Given the description of an element on the screen output the (x, y) to click on. 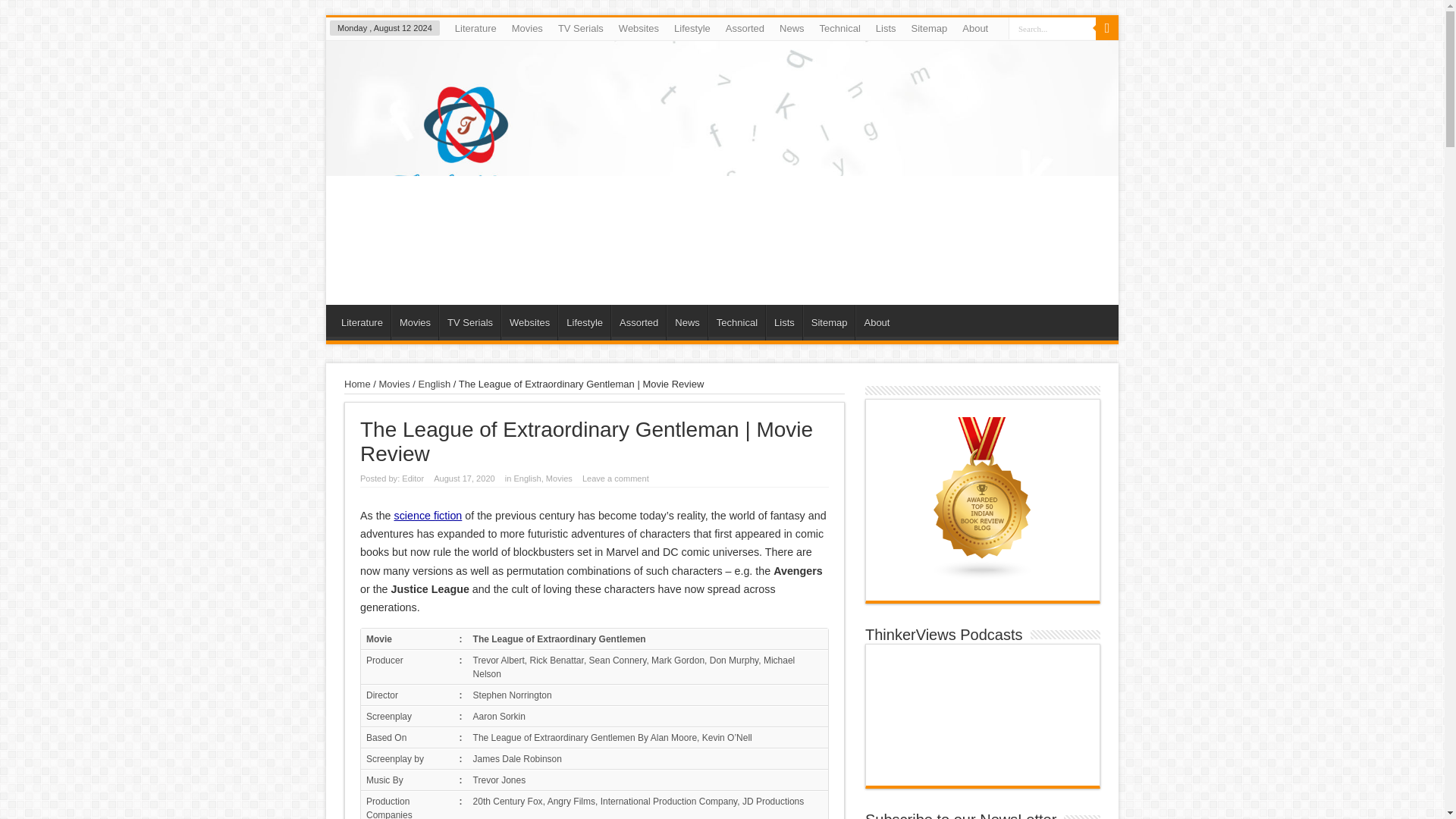
Movies (526, 28)
Sitemap (929, 28)
Assorted (744, 28)
TV Serials (580, 28)
Search (1107, 28)
Latest News And Informative Stuff (791, 28)
News (791, 28)
Search... (1052, 28)
Literature (361, 322)
Literature (474, 28)
